Given the description of an element on the screen output the (x, y) to click on. 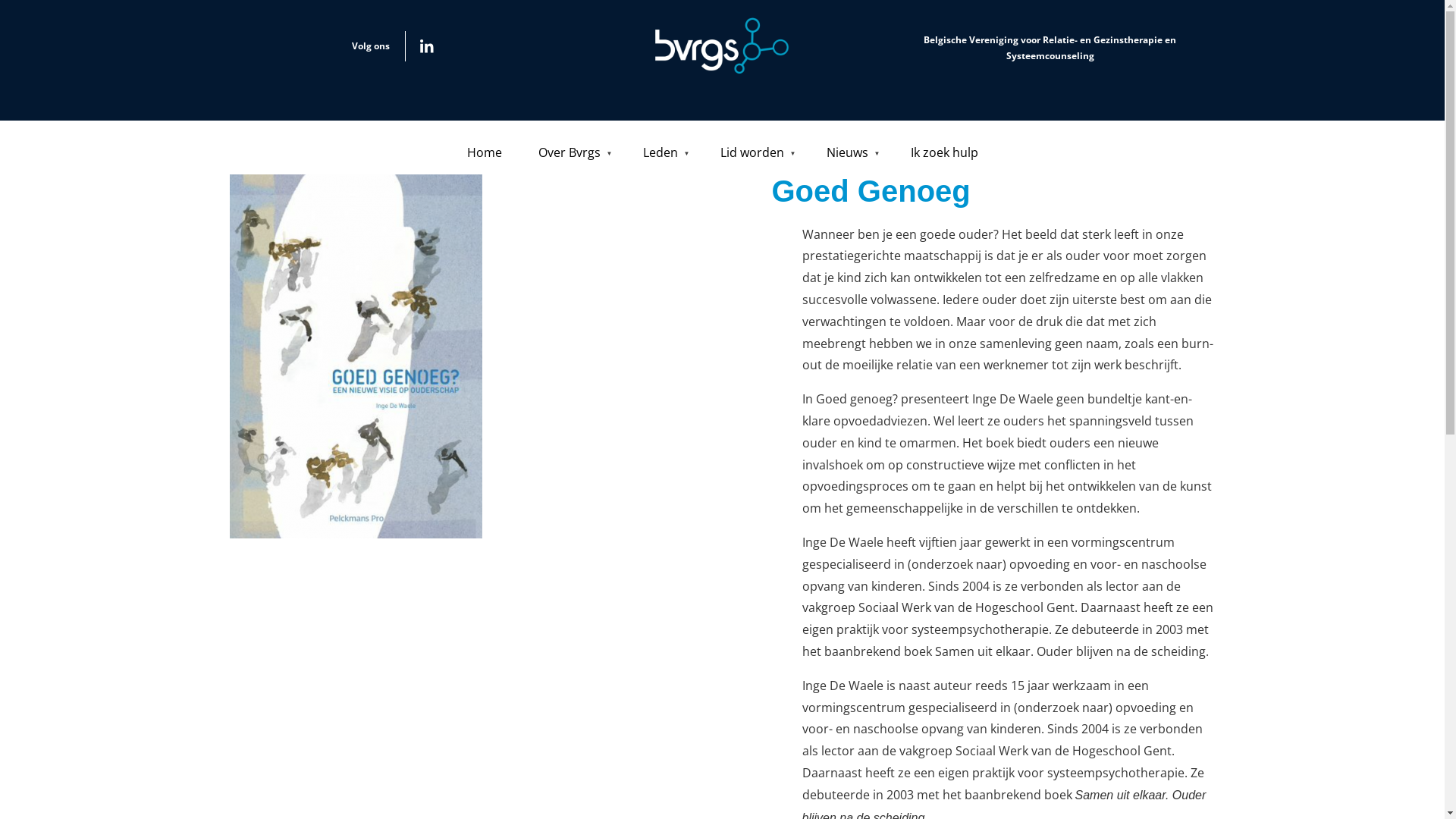
Ik zoek hulp Element type: text (943, 152)
Home Element type: text (484, 152)
Overslaan en naar de inhoud gaan Element type: text (0, 0)
